Given the description of an element on the screen output the (x, y) to click on. 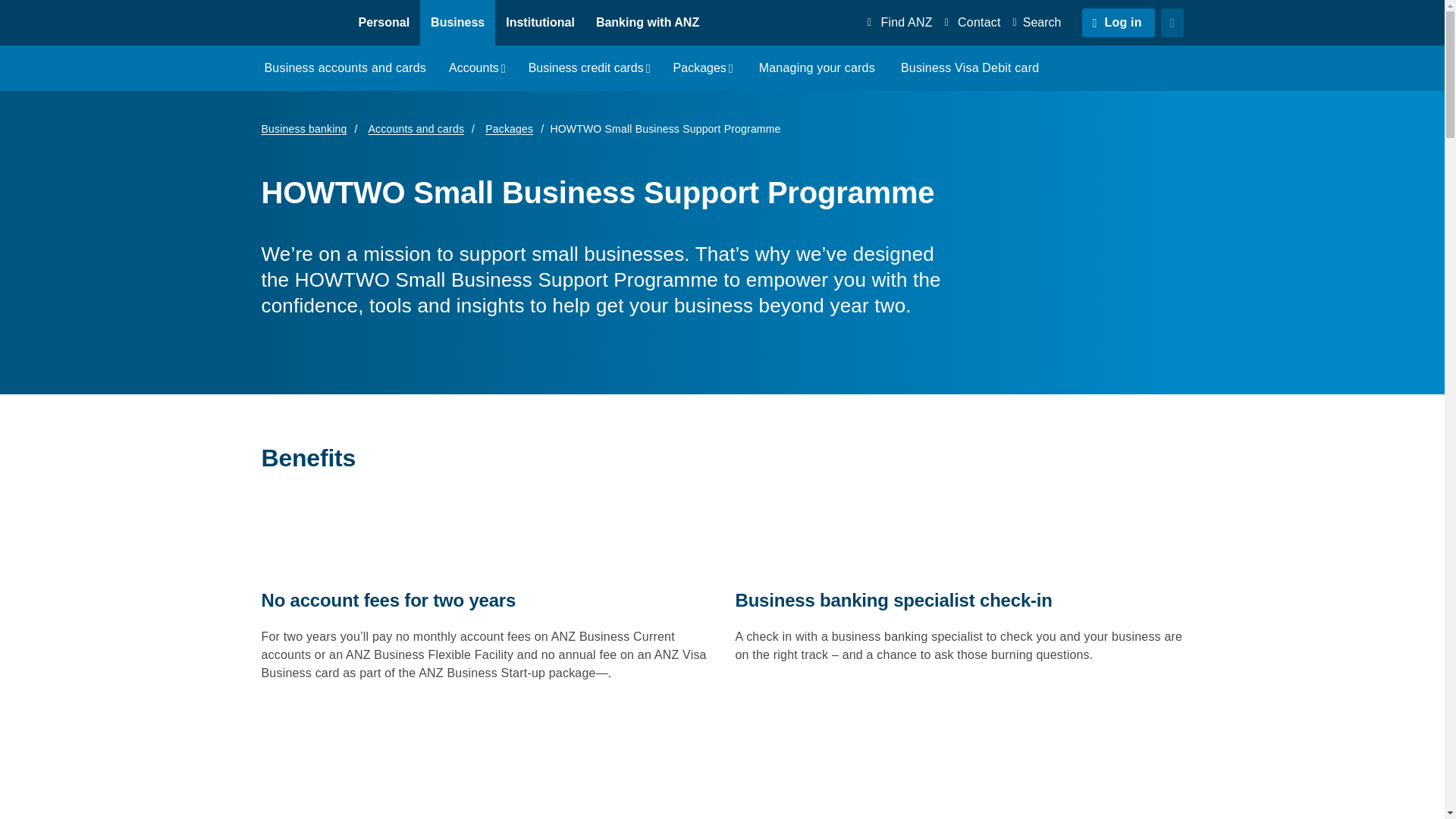
Personal (383, 22)
Business (457, 22)
Institutional (540, 22)
